Given the description of an element on the screen output the (x, y) to click on. 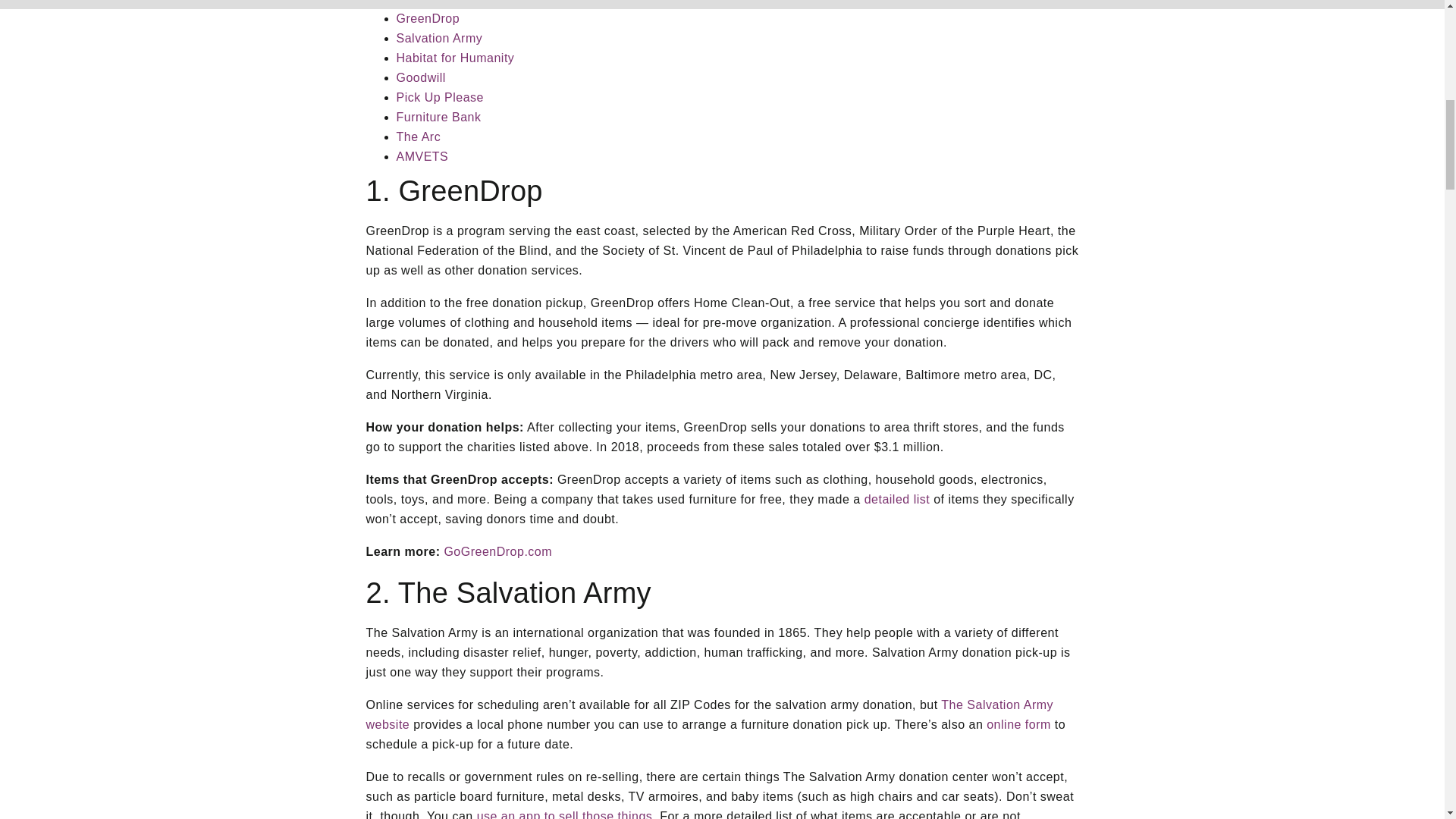
Goodwill (420, 77)
Pick Up Please (439, 97)
Furniture Bank (438, 116)
Habitat for Humanity (454, 57)
GreenDrop (428, 18)
Salvation Army (438, 38)
AMVETS (422, 155)
The Arc (418, 136)
